Given the description of an element on the screen output the (x, y) to click on. 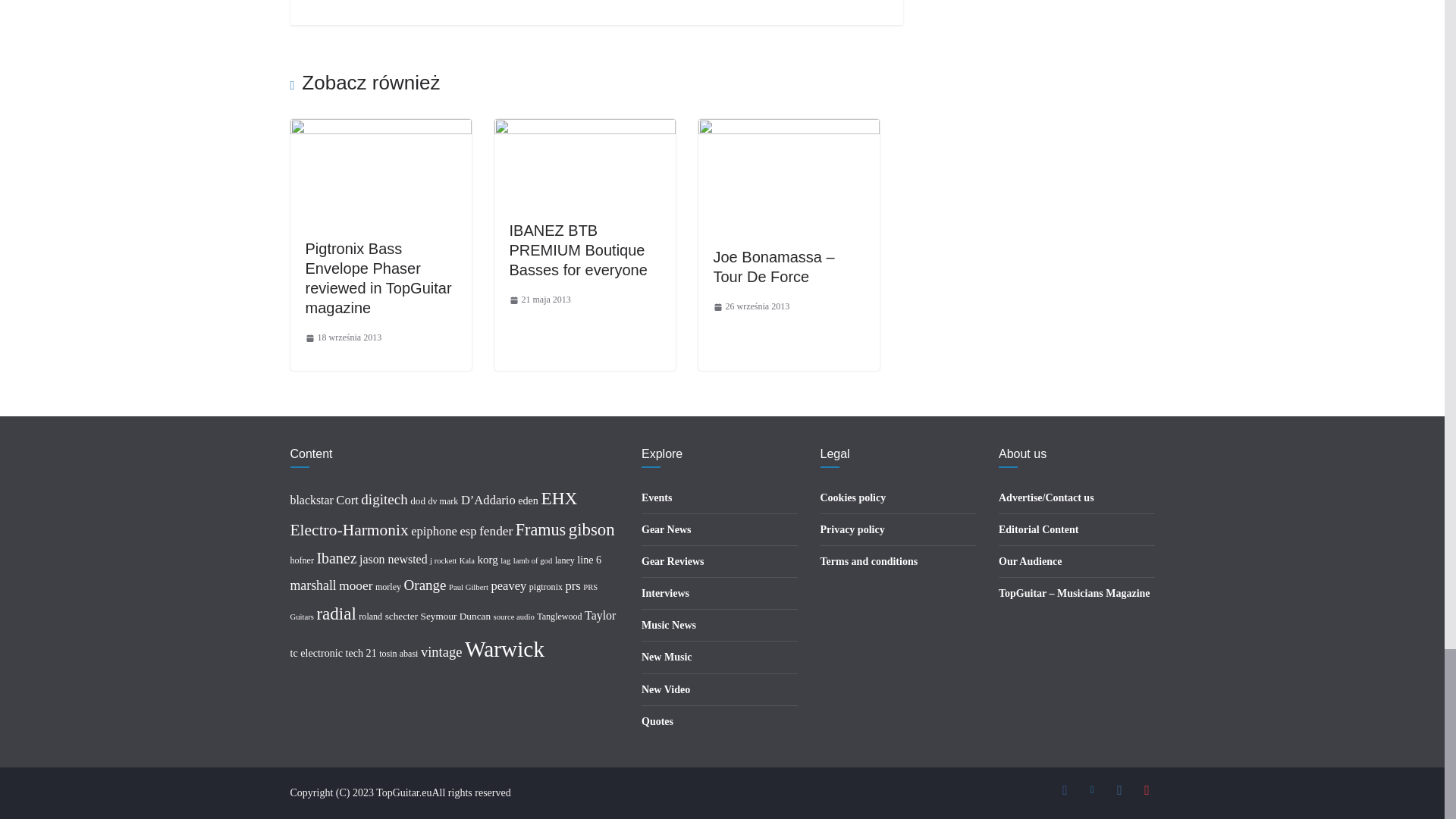
21 maja 2013 (539, 299)
16:25 (342, 338)
IBANEZ BTB PREMIUM Boutique Basses for everyone (578, 249)
IBANEZ BTB PREMIUM Boutique Basses for everyone (585, 128)
